Given the description of an element on the screen output the (x, y) to click on. 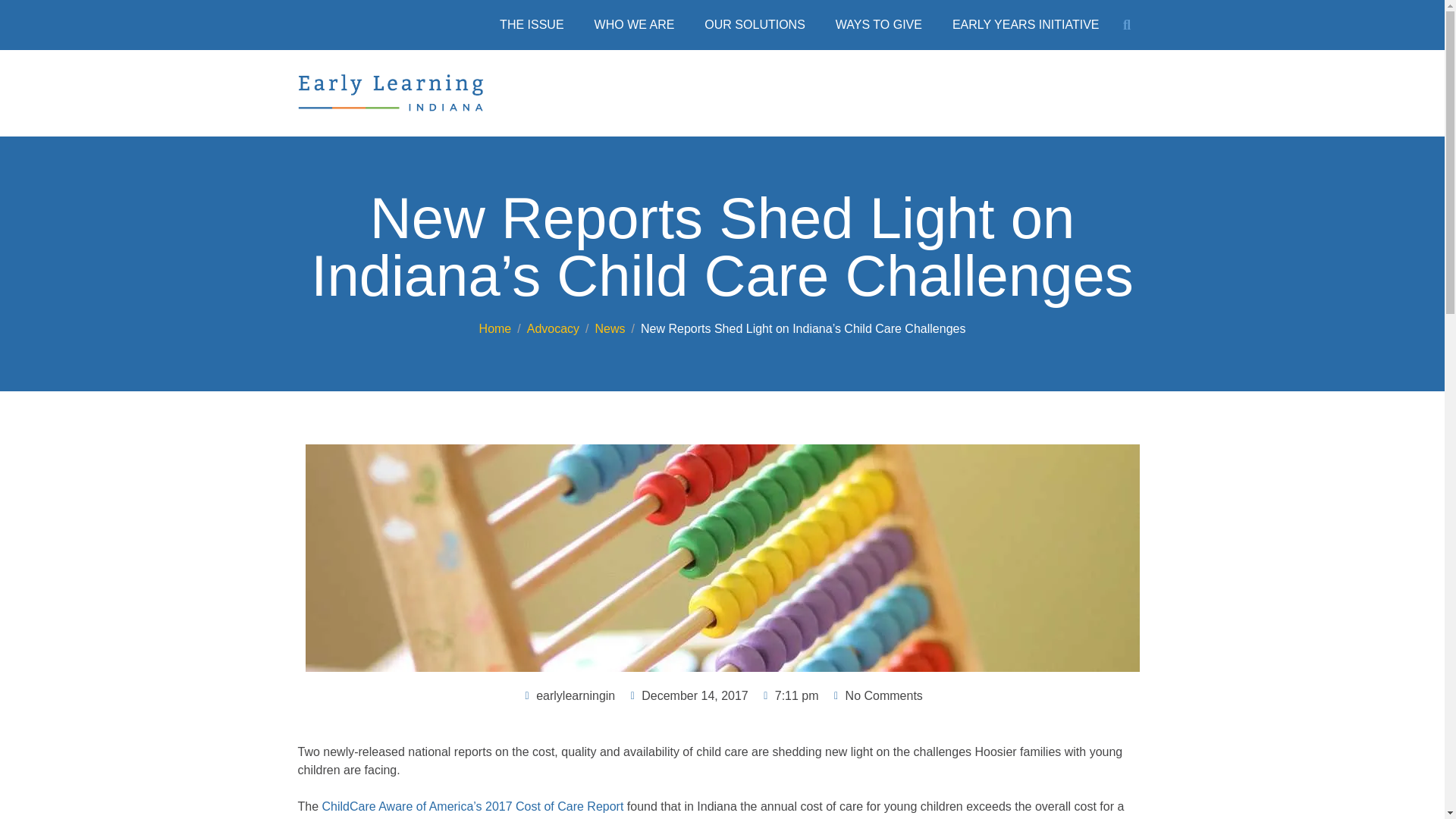
WAYS TO GIVE (879, 24)
EARLY YEARS INITIATIVE (1026, 24)
OUR SOLUTIONS (753, 24)
WHO WE ARE (634, 24)
THE ISSUE (531, 24)
